Given the description of an element on the screen output the (x, y) to click on. 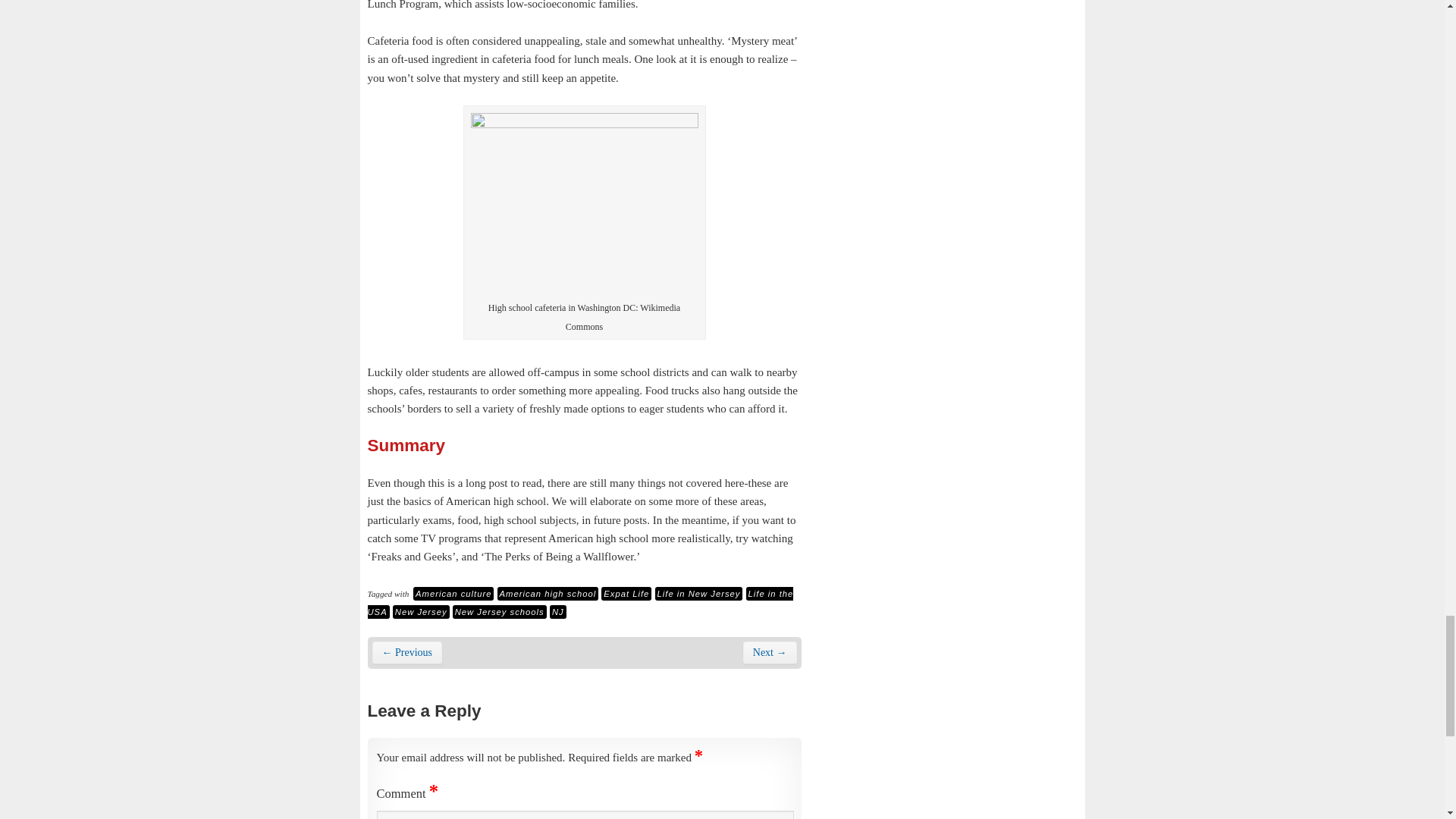
Life in the USA (579, 603)
American high school (547, 593)
An Expat Life in NJ Changes - Moving back (406, 652)
Life in New Jersey (698, 593)
Expat Life (625, 593)
New Jersey (421, 612)
New Jersey schools (499, 612)
American culture (453, 593)
